Given the description of an element on the screen output the (x, y) to click on. 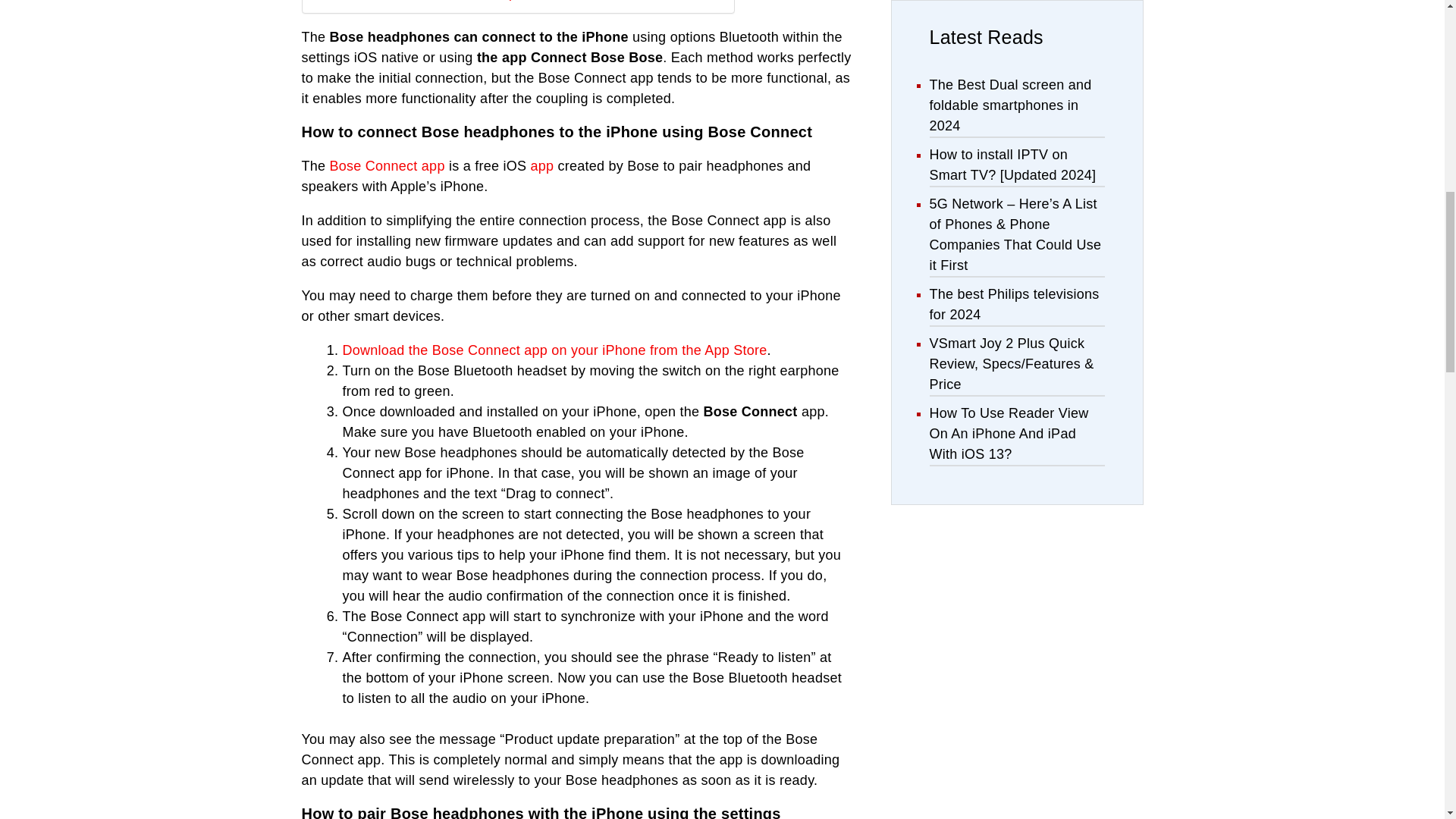
How to disconnect the Bose headphones from an iPhone (477, 2)
